Given the description of an element on the screen output the (x, y) to click on. 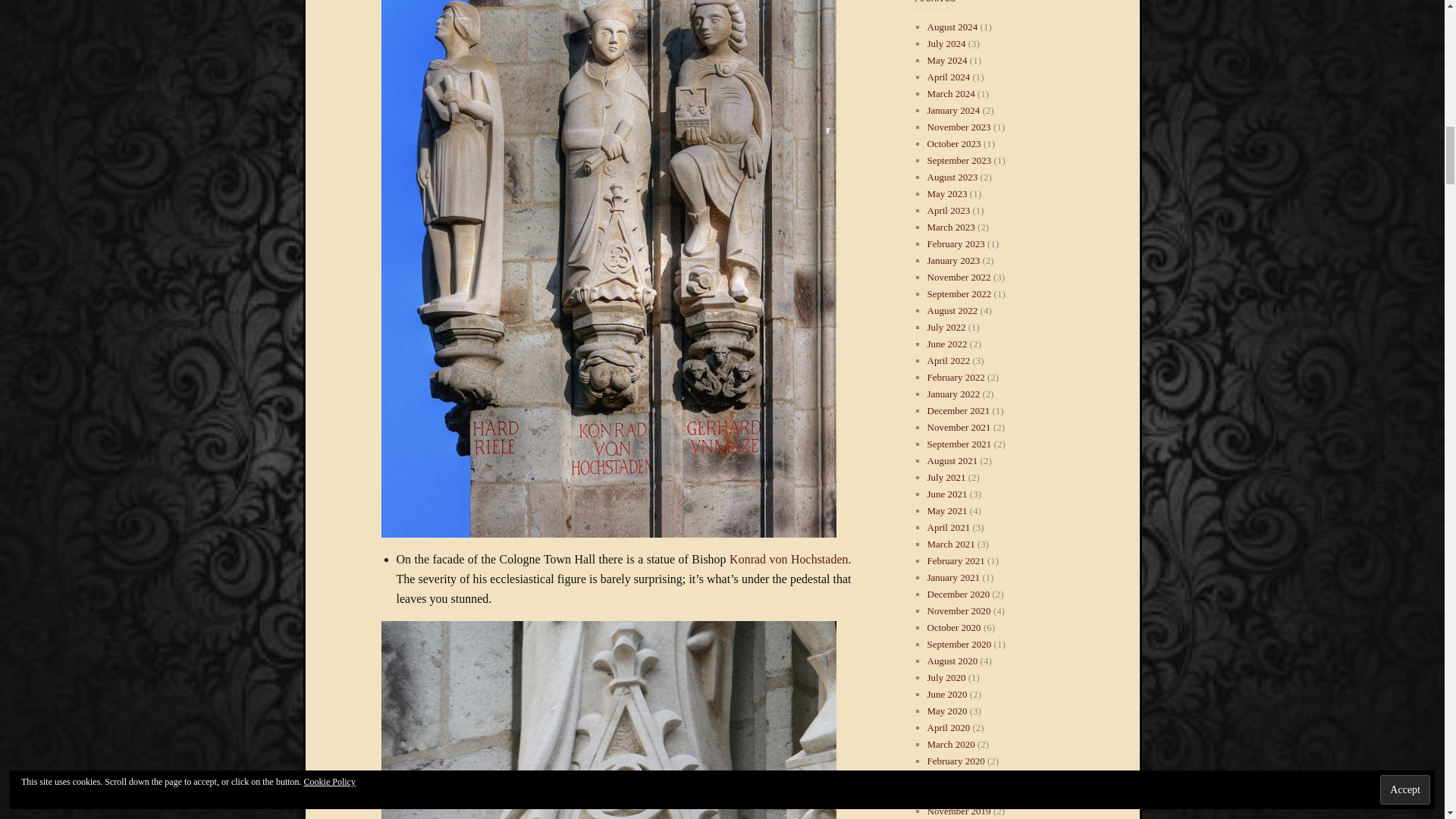
Konrad von Hochstaden (788, 558)
